Given the description of an element on the screen output the (x, y) to click on. 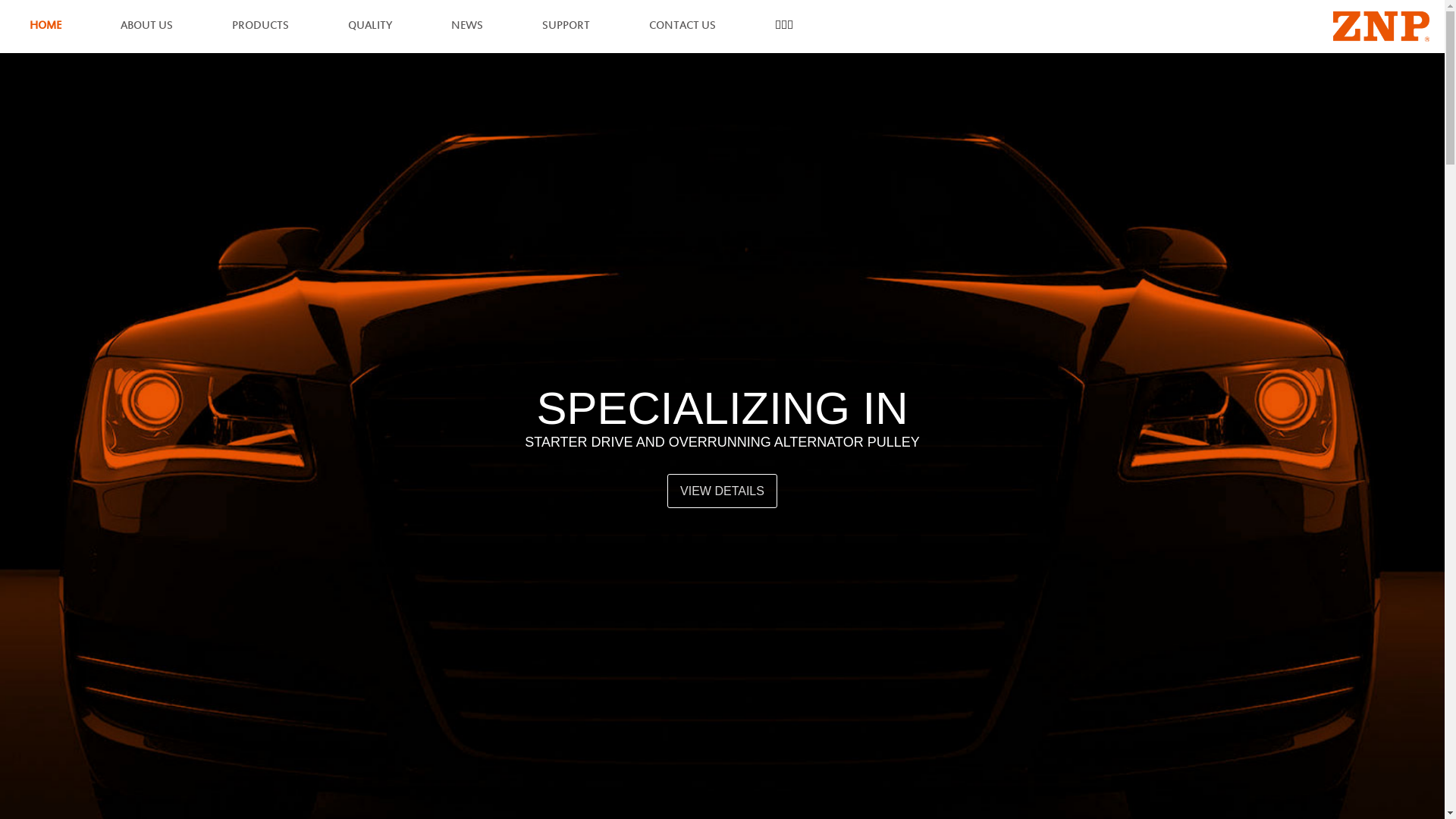
QUALITY Element type: text (369, 26)
VIEW DETAILS Element type: text (722, 490)
HOME Element type: text (45, 26)
PRODUCTS Element type: text (260, 26)
CONTACT US Element type: text (682, 26)
NEWS Element type: text (466, 26)
ABOUT US Element type: text (146, 26)
SUPPORT Element type: text (565, 26)
